Given the description of an element on the screen output the (x, y) to click on. 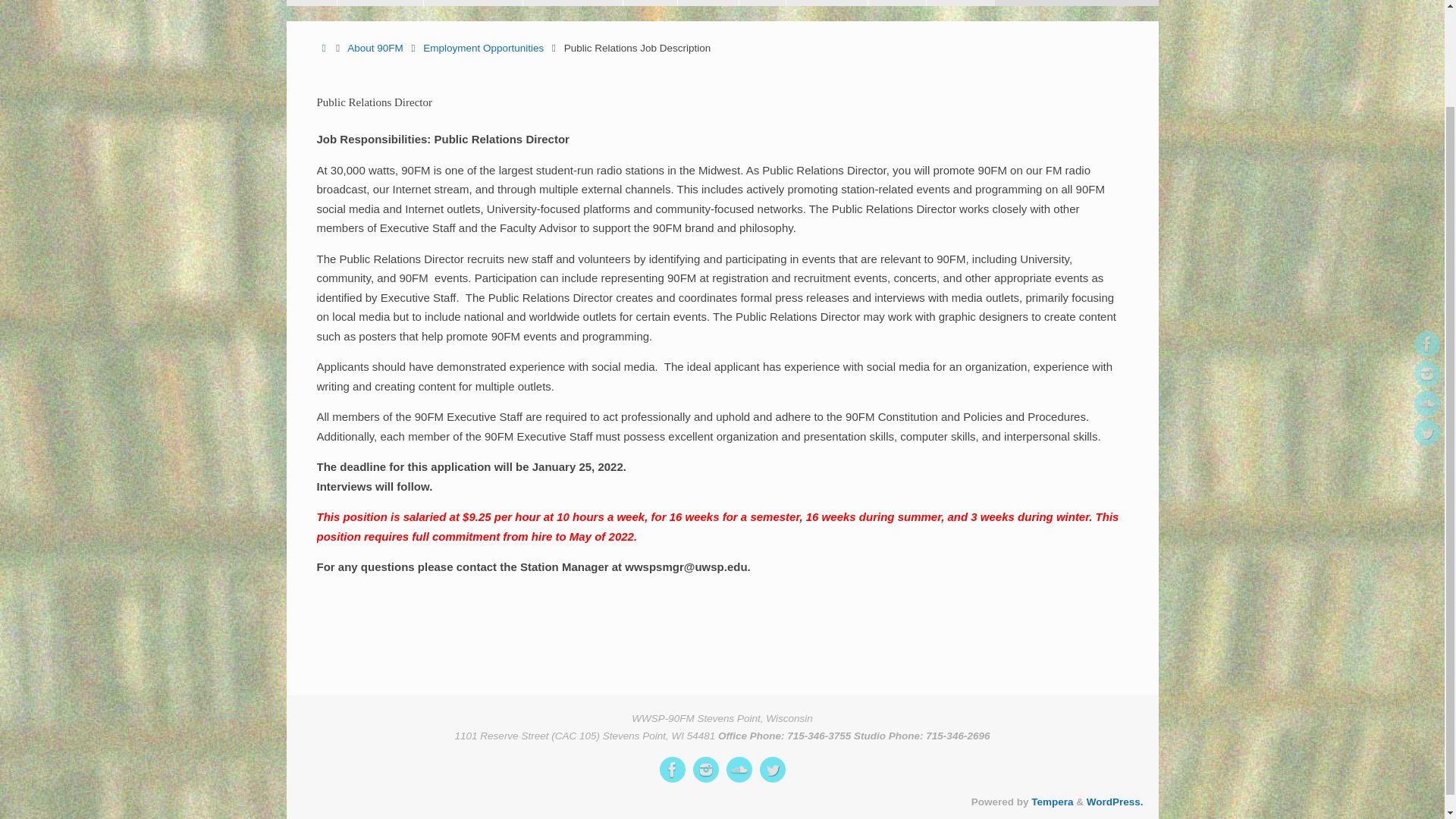
Underwriting (826, 2)
Twitter (773, 769)
Home (324, 48)
Contact (896, 2)
SoundCloud (1426, 289)
Search (1146, 2)
SoundCloud (739, 769)
Home (311, 2)
Instagram (706, 769)
Twitter (1426, 319)
Events (707, 2)
News (650, 2)
WWSP 90FM (721, 71)
Trivia (762, 2)
Facebook (672, 769)
